Given the description of an element on the screen output the (x, y) to click on. 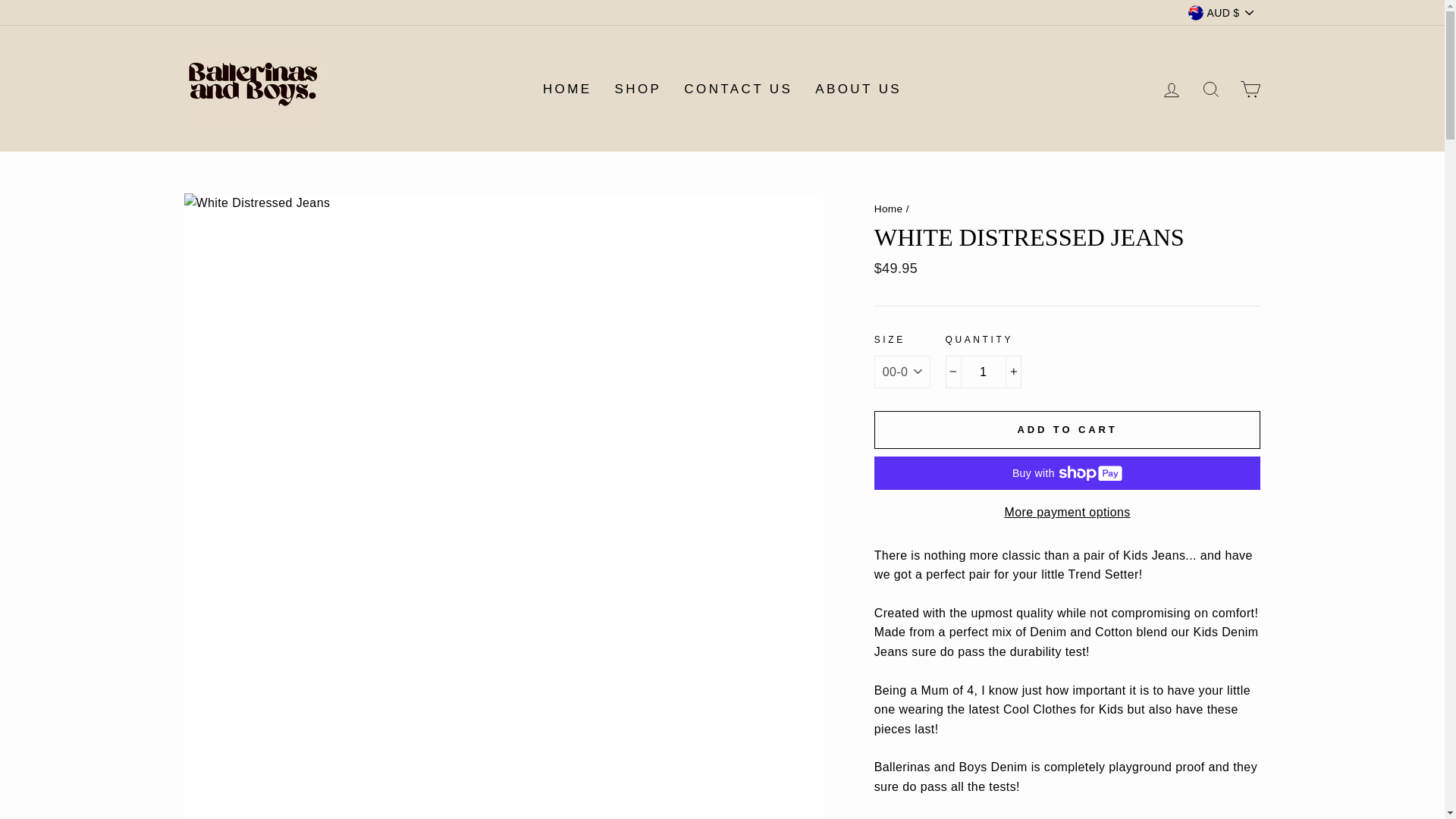
1 (983, 372)
Back to the frontpage (888, 208)
